Given the description of an element on the screen output the (x, y) to click on. 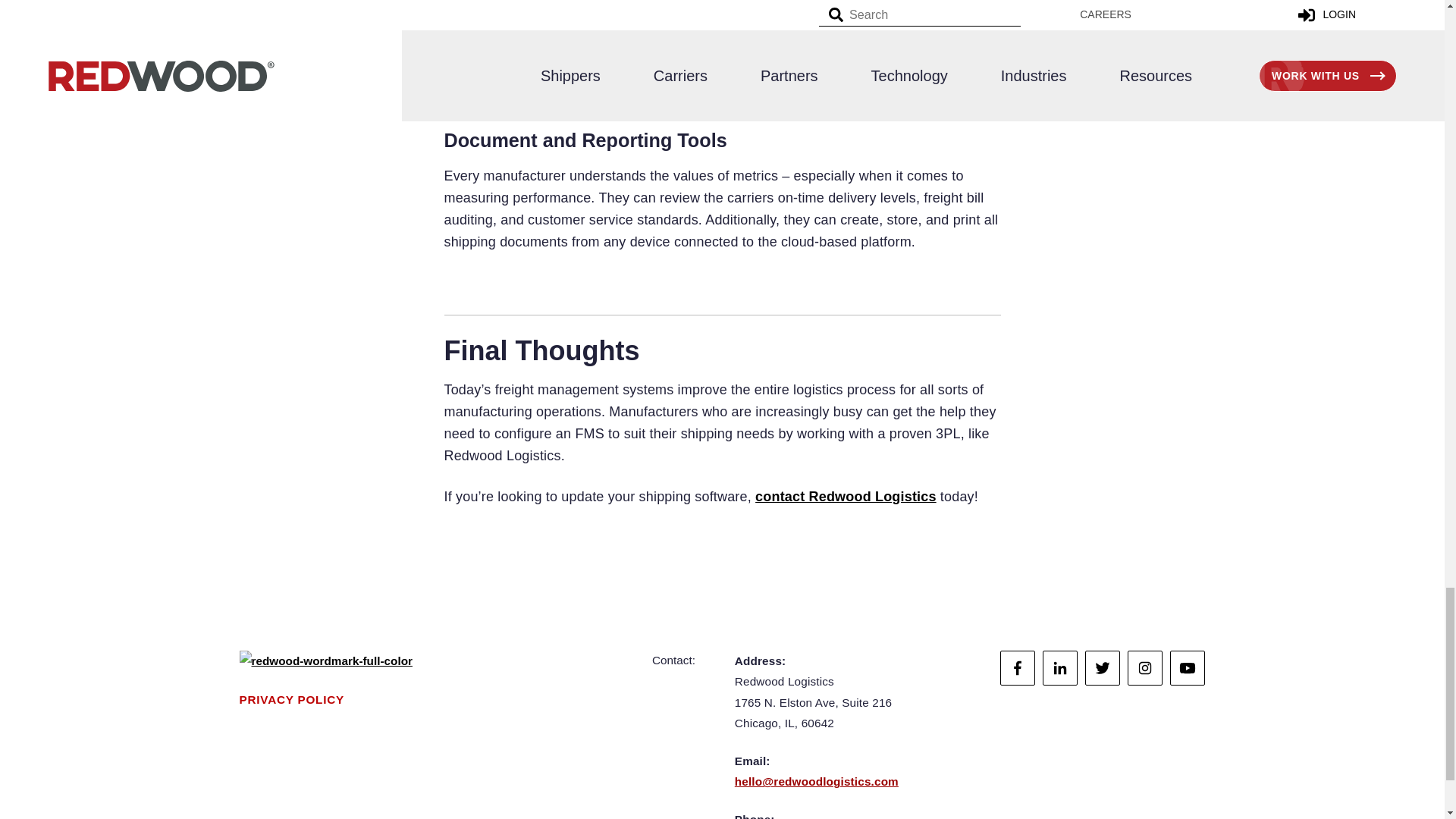
Instagram (1143, 667)
redwood-wordmark-full-color (326, 660)
Twitter (1101, 667)
YouTube (1187, 667)
Linkedin (1059, 667)
Facebook (1017, 667)
